Given the description of an element on the screen output the (x, y) to click on. 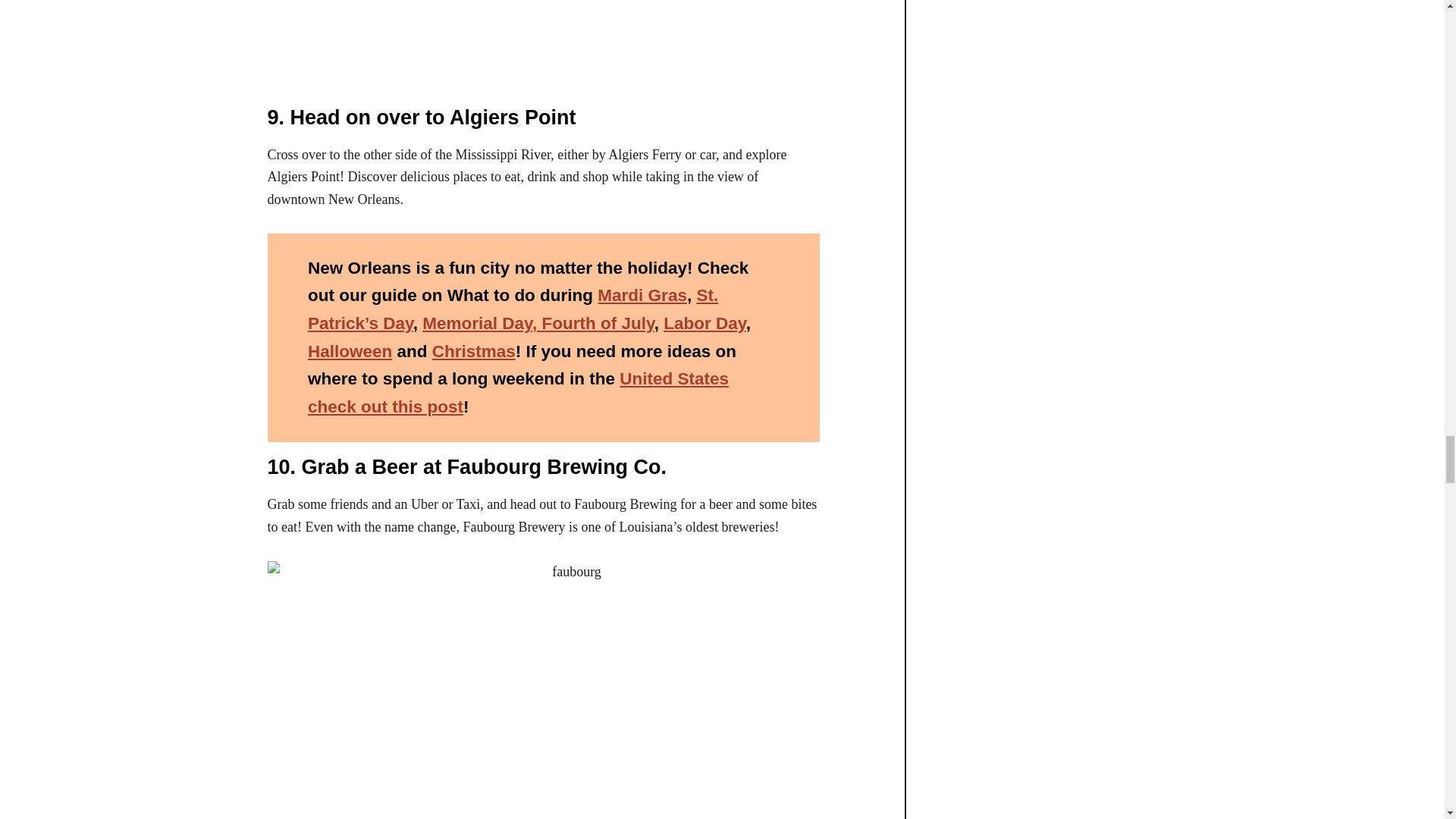
Halloween (349, 351)
, Fourth of July (592, 322)
United States check out this post (518, 392)
Mardi Gras (641, 294)
Labor Day (704, 322)
Christmas (473, 351)
Memorial Day (477, 322)
